Given the description of an element on the screen output the (x, y) to click on. 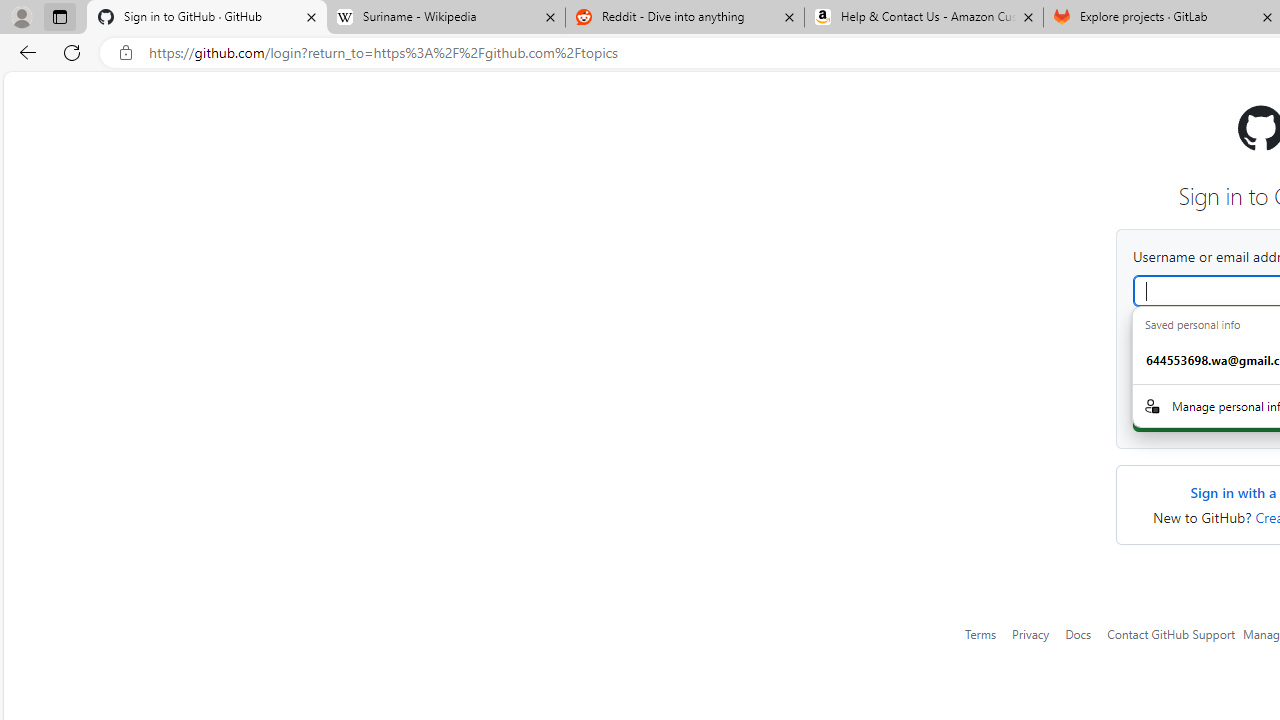
Help & Contact Us - Amazon Customer Service (924, 17)
